Given the description of an element on the screen output the (x, y) to click on. 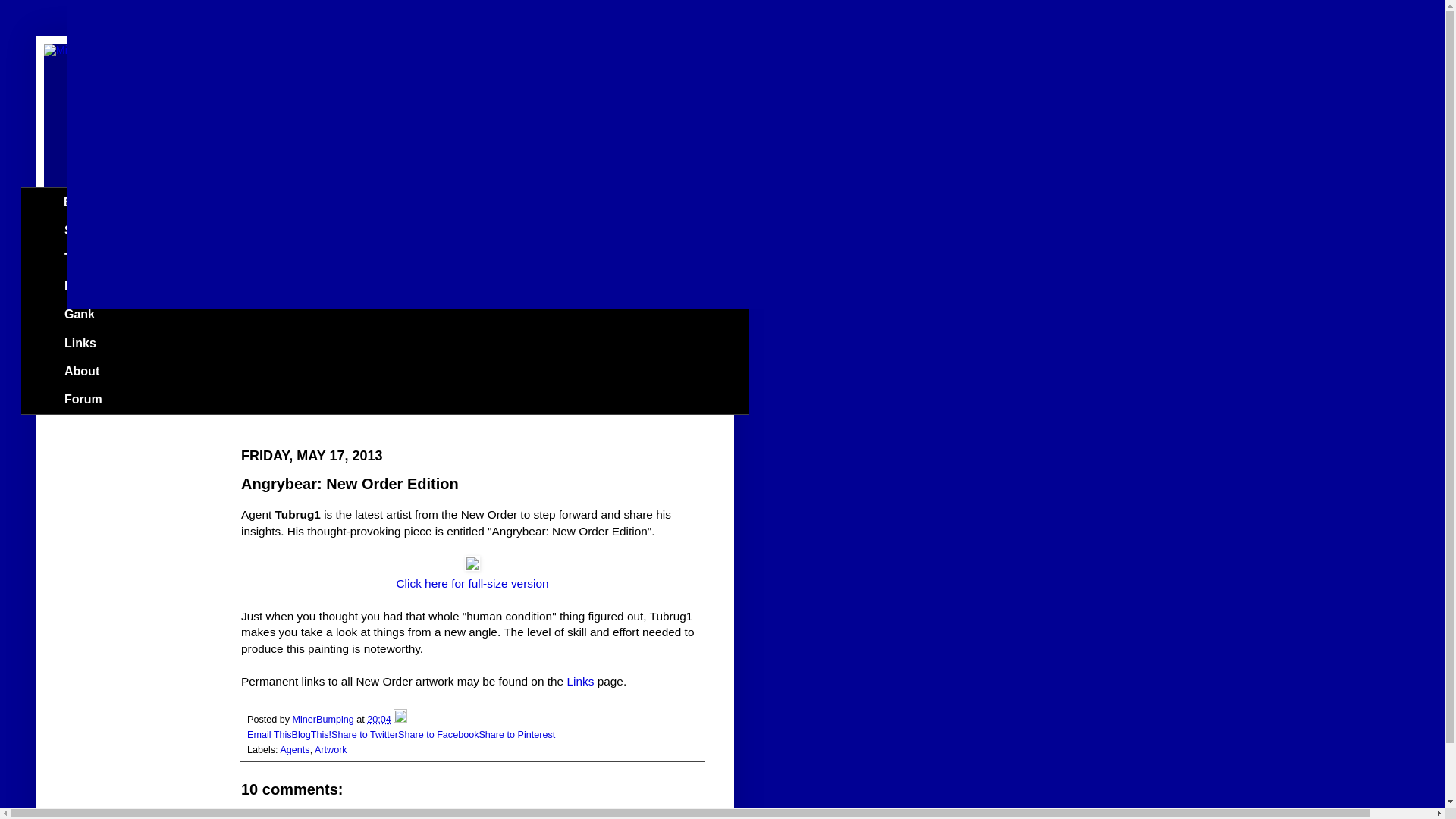
Become an Agent (114, 286)
Forum (82, 398)
Share to Pinterest (516, 734)
Share to Twitter (364, 734)
Share to Pinterest (516, 734)
BlogThis! (311, 734)
Links (78, 343)
Email This (269, 734)
Agents (293, 749)
Artwork (330, 749)
20:04 (378, 719)
BLOG (80, 202)
Click here for full-size version (472, 583)
Shareholders (102, 230)
Email This (269, 734)
